Given the description of an element on the screen output the (x, y) to click on. 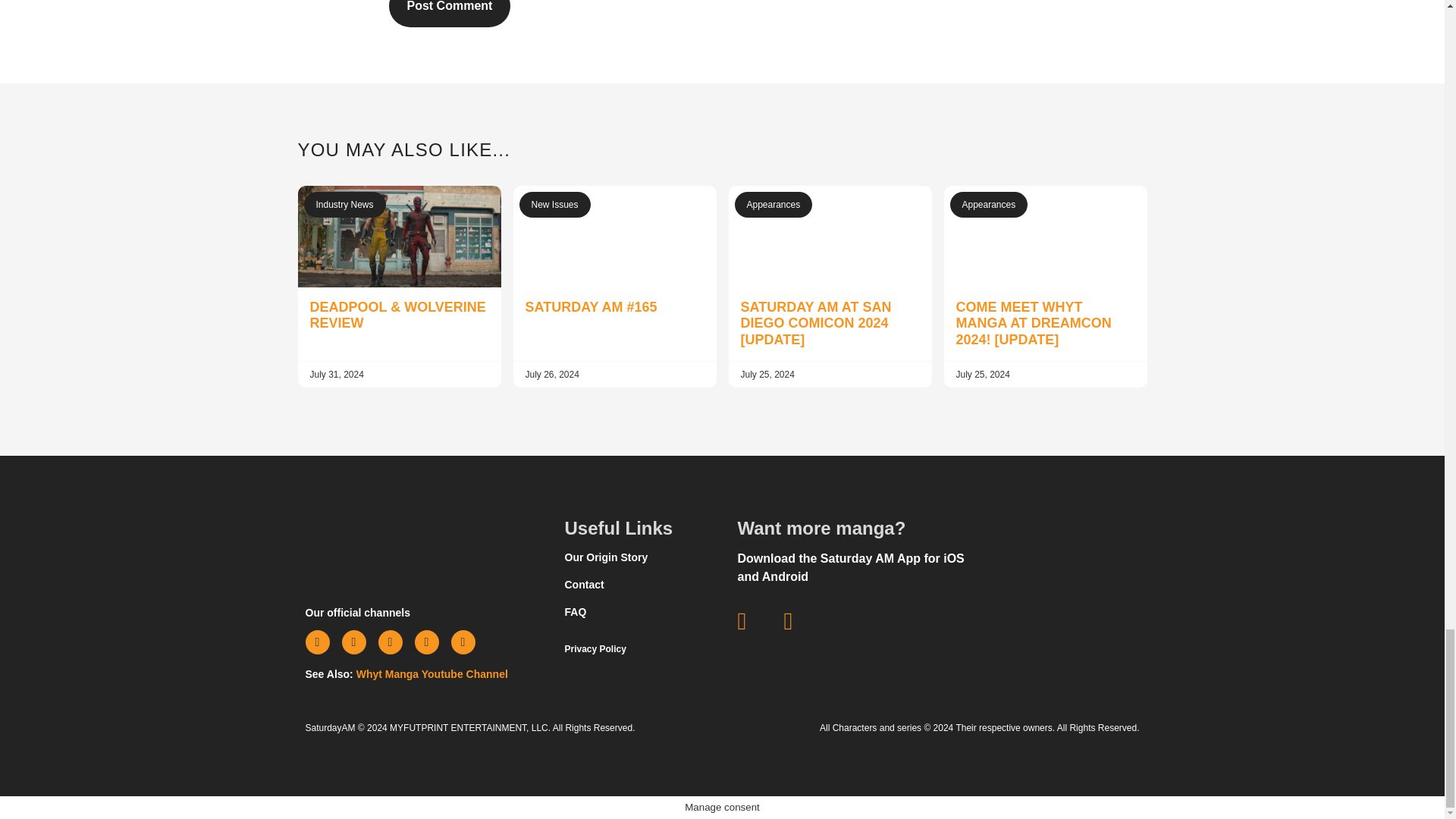
Post Comment (449, 13)
